Given the description of an element on the screen output the (x, y) to click on. 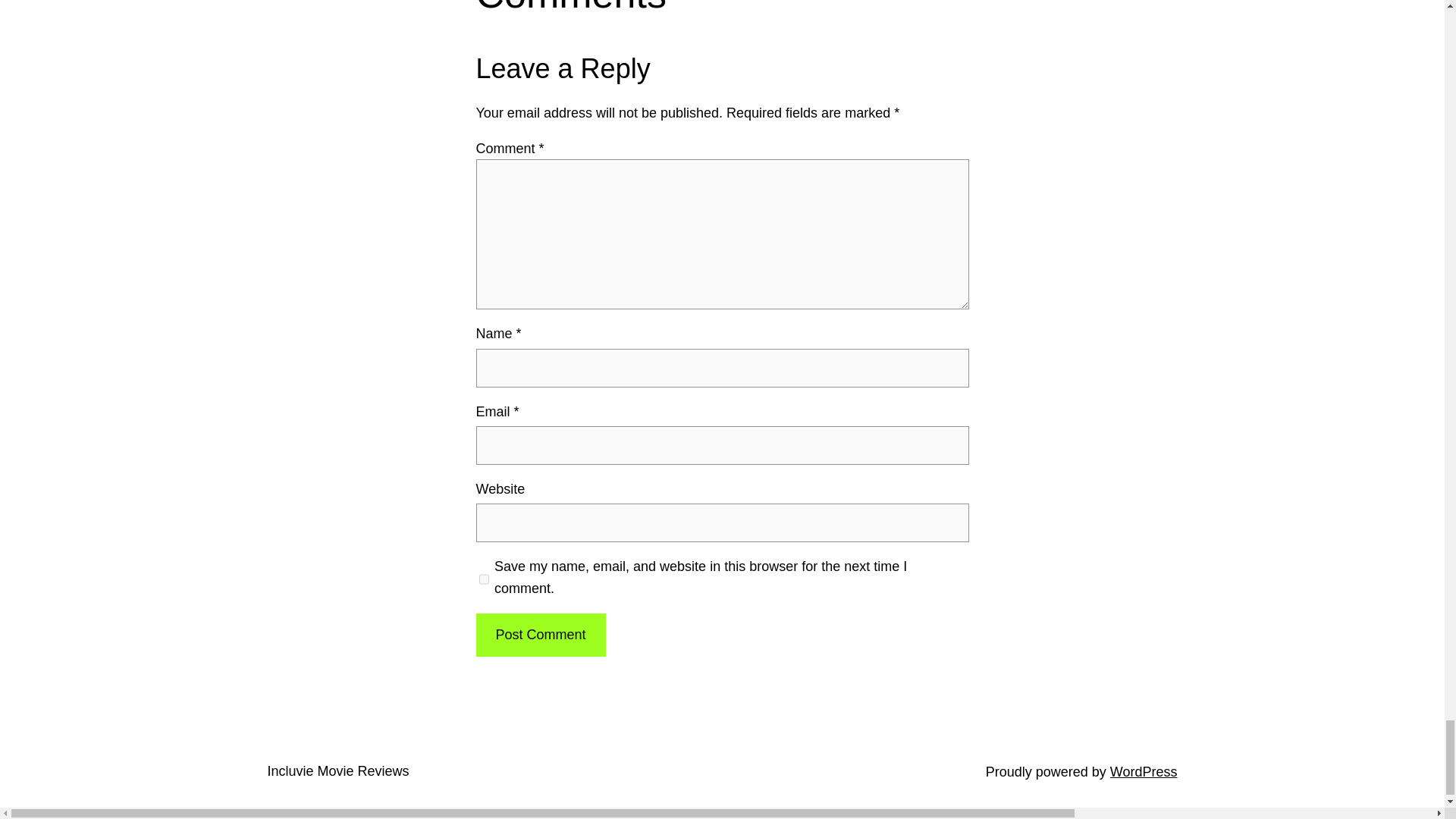
Post Comment (540, 634)
Post Comment (540, 634)
Incluvie Movie Reviews (337, 770)
WordPress (1143, 771)
